Given the description of an element on the screen output the (x, y) to click on. 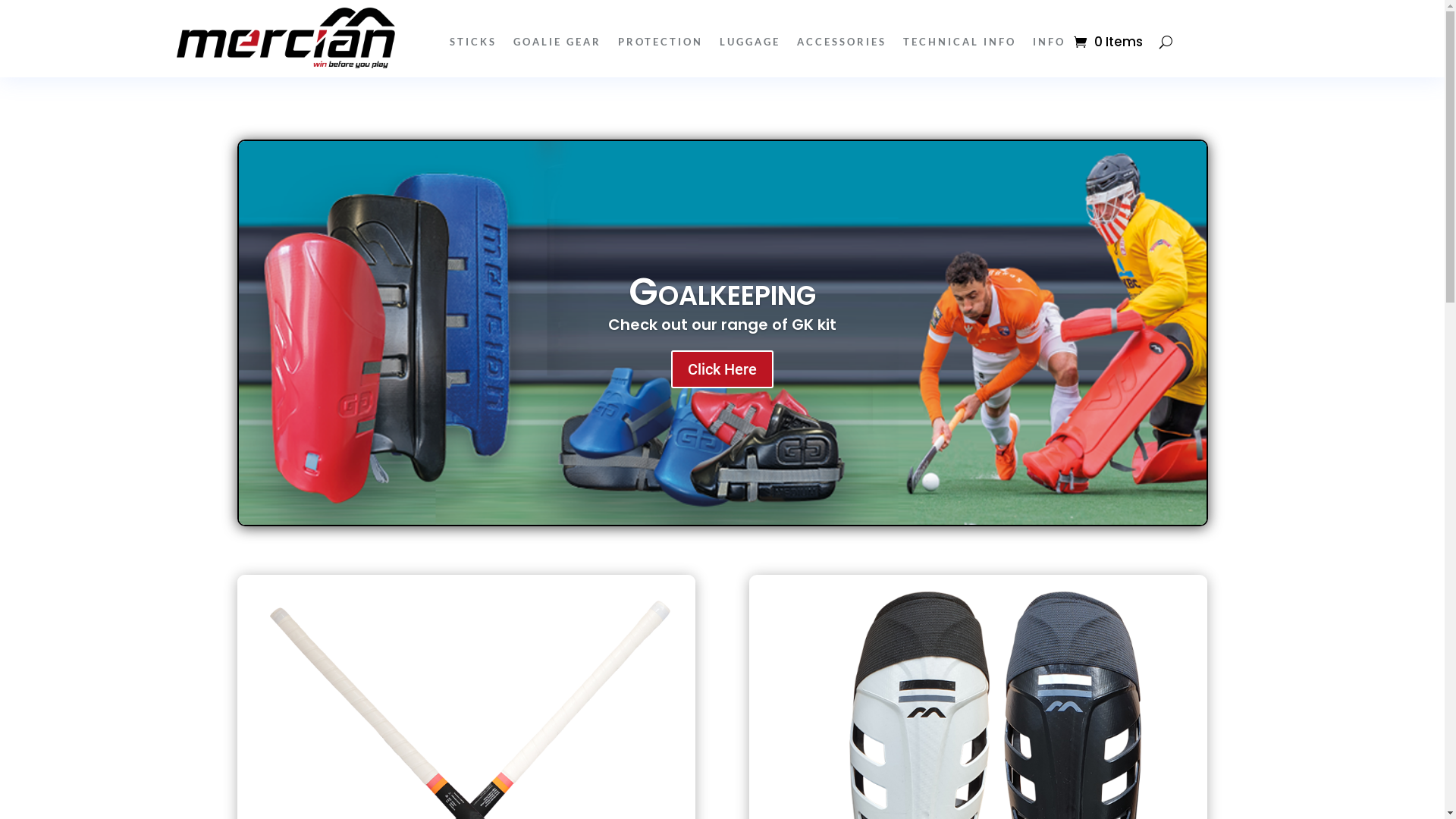
LUGGAGE Element type: text (748, 44)
PROTECTION Element type: text (659, 44)
INFO Element type: text (1048, 44)
Goalkeeping Element type: text (721, 291)
STICKS Element type: text (471, 44)
Click Here Element type: text (722, 369)
0 Items Element type: text (1107, 41)
ACCESSORIES Element type: text (840, 44)
TECHNICAL INFO Element type: text (958, 44)
GOALIE GEAR Element type: text (556, 44)
